Given the description of an element on the screen output the (x, y) to click on. 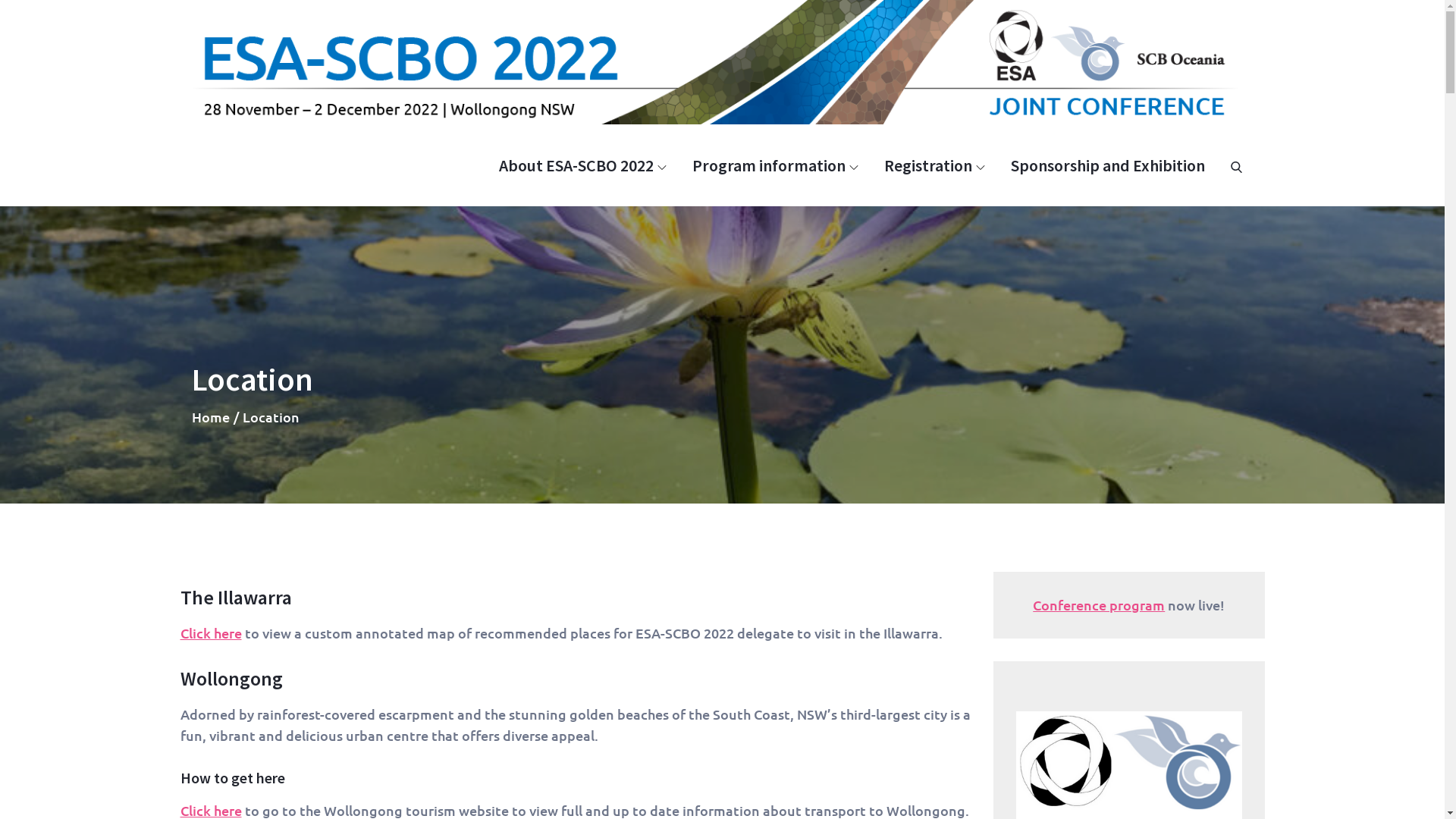
Program information Element type: text (774, 165)
Sponsorship and Exhibition Element type: text (1107, 165)
About ESA-SCBO 2022 Element type: text (582, 165)
search Element type: hover (1235, 165)
Home Element type: text (210, 416)
ESA-SCBO 2022 Joint Conference Element type: text (1346, 108)
Registration Element type: text (934, 165)
Conference program Element type: text (1098, 604)
Click here Element type: text (210, 632)
